Given the description of an element on the screen output the (x, y) to click on. 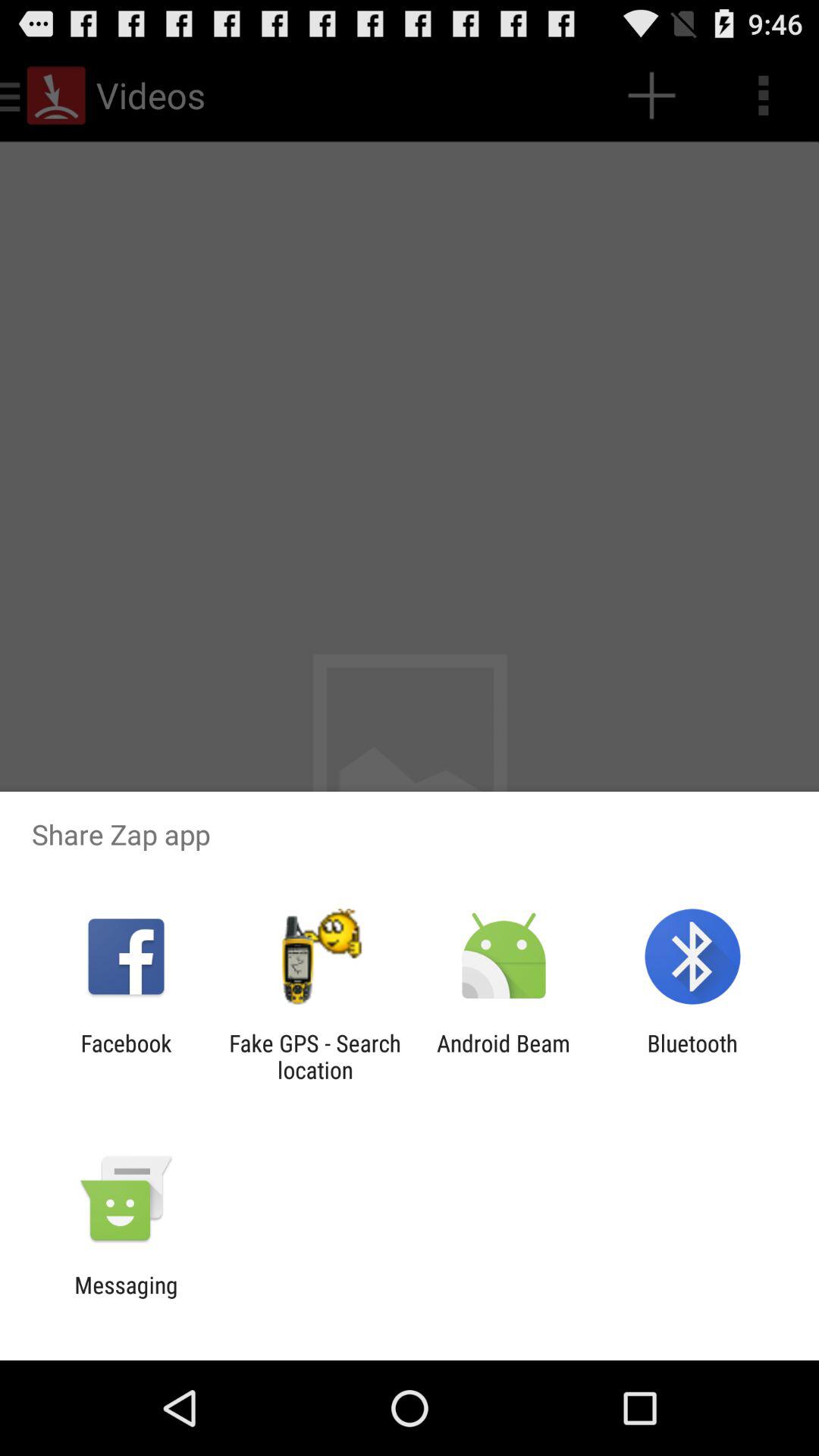
open app to the right of facebook icon (314, 1056)
